Given the description of an element on the screen output the (x, y) to click on. 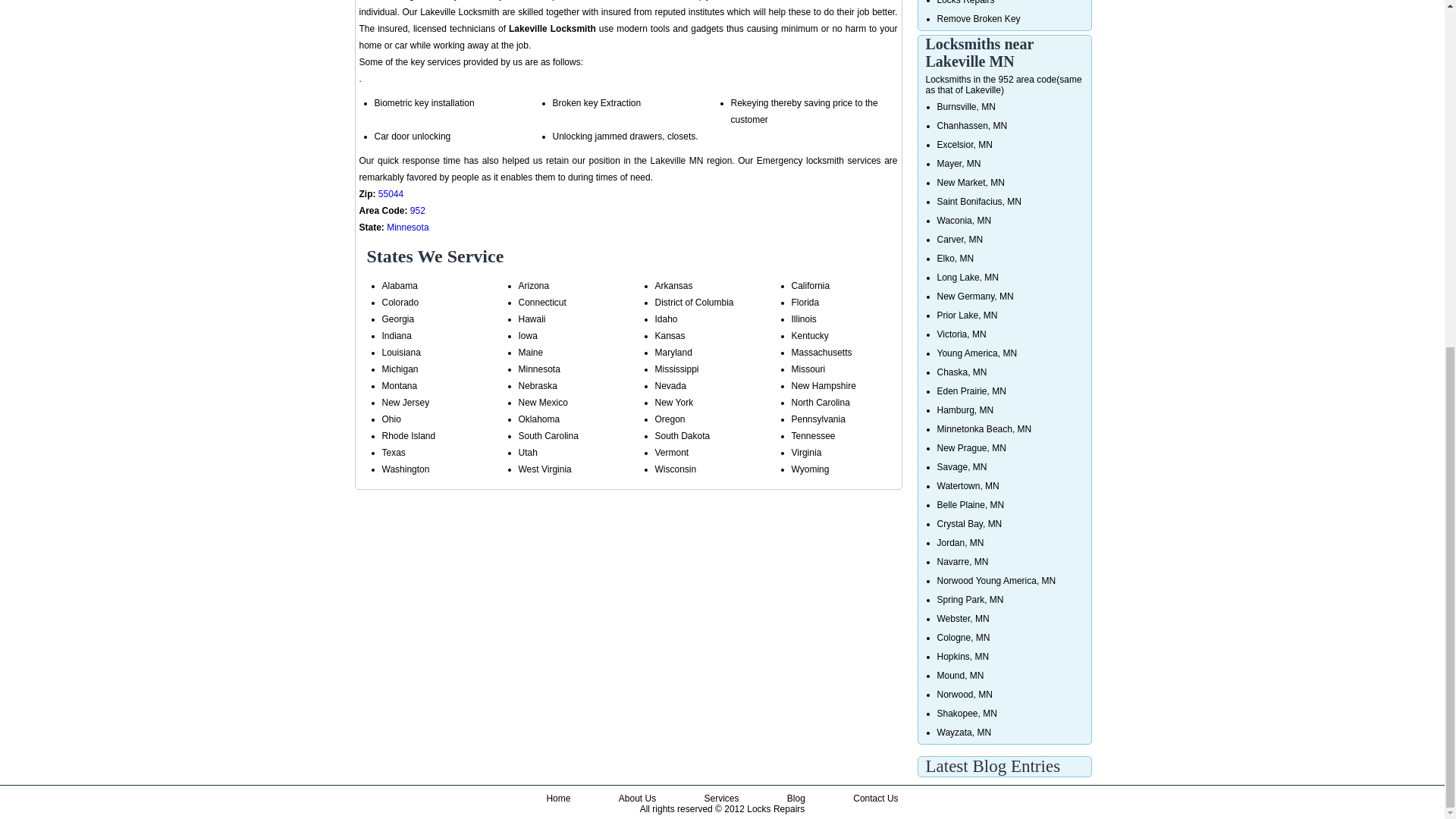
New Hampshire (824, 385)
Minnesota (539, 368)
55044 (390, 194)
California (810, 285)
Minnesota (407, 226)
District of Columbia (694, 302)
Alabama (399, 285)
Louisiana (400, 352)
Georgia (397, 318)
Idaho (666, 318)
Nevada (670, 385)
Missouri (808, 368)
